Given the description of an element on the screen output the (x, y) to click on. 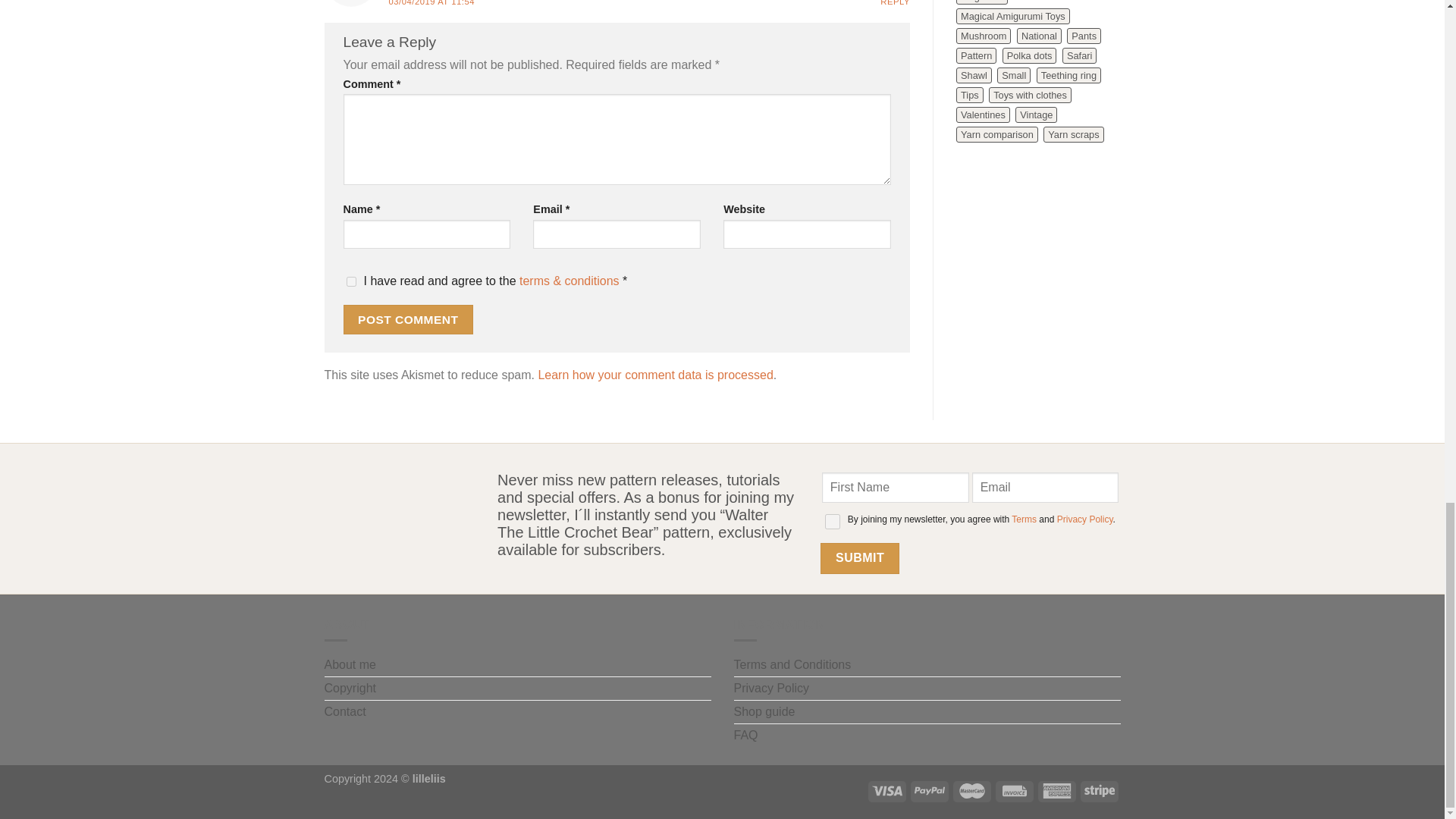
1 (832, 521)
Submit (860, 557)
1 (350, 281)
Post Comment (407, 319)
